Given the description of an element on the screen output the (x, y) to click on. 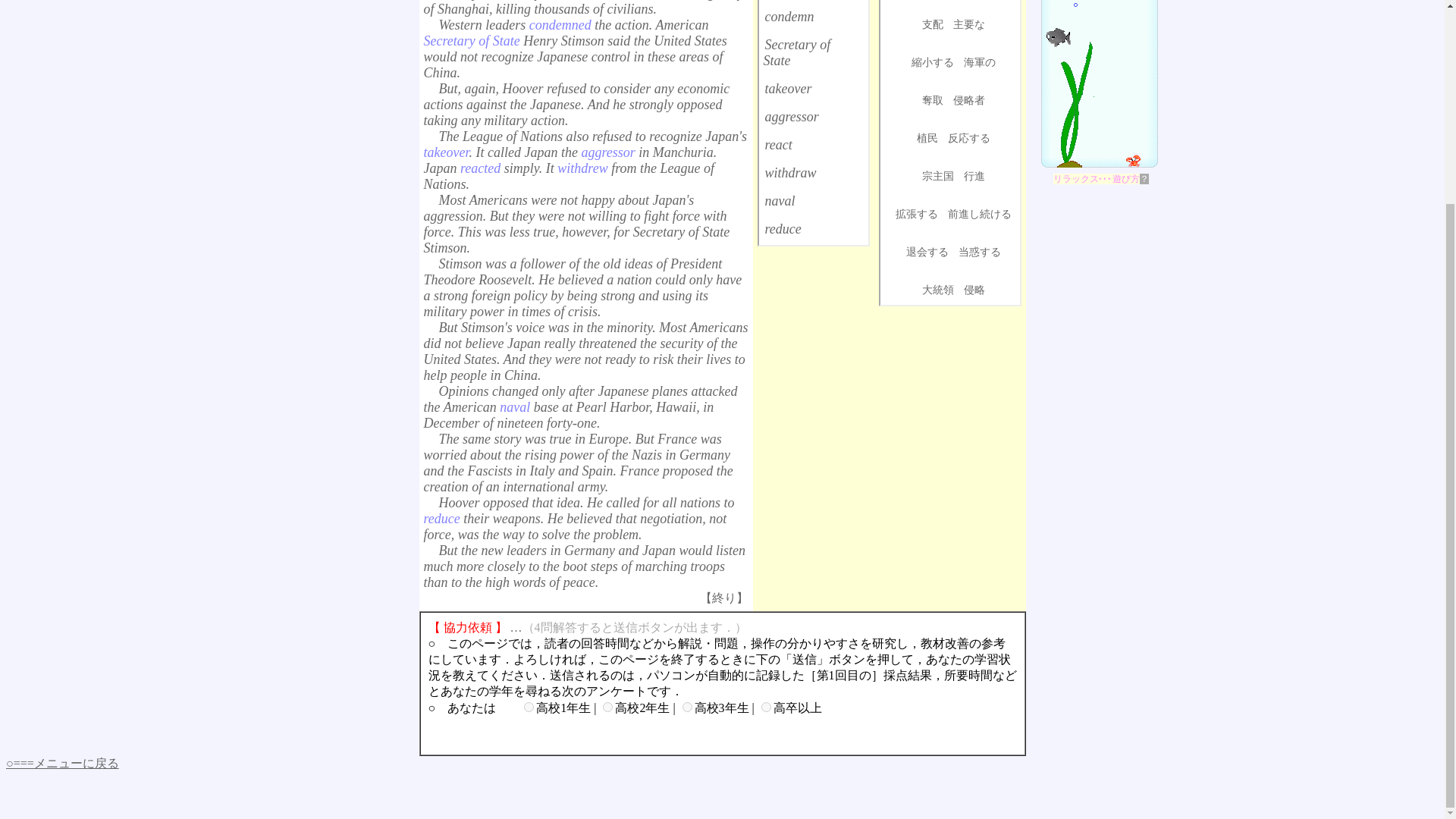
k3 (687, 706)
k1 (529, 706)
condemn (788, 16)
Advertisement (813, 403)
Advertisement (949, 395)
aggressor (791, 116)
naval (779, 200)
withdraw (789, 172)
Secretary of State (795, 51)
takeover (787, 88)
reduce (782, 228)
ob (766, 706)
react (778, 144)
k2 (607, 706)
